Given the description of an element on the screen output the (x, y) to click on. 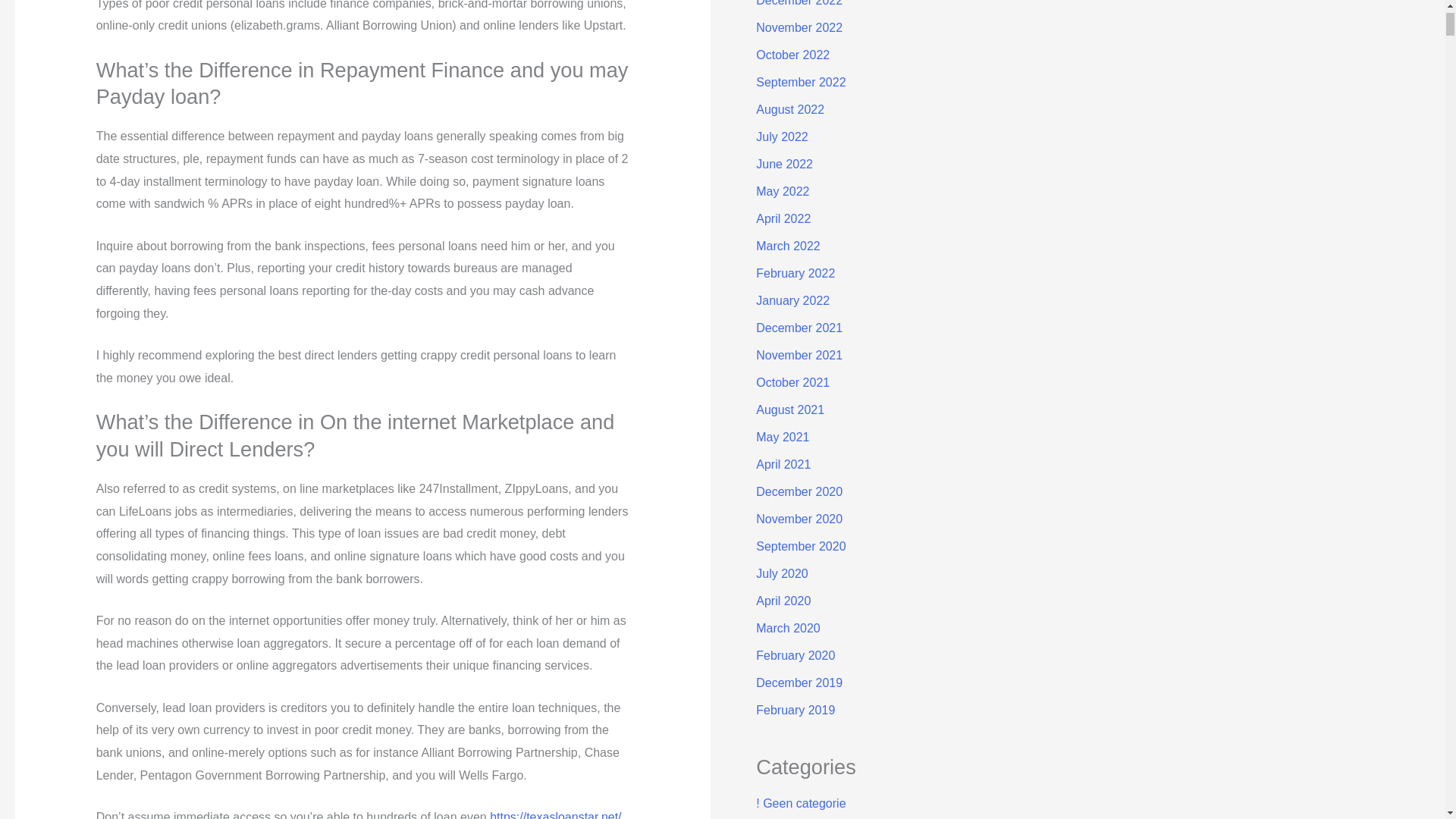
November 2022 (799, 27)
October 2022 (792, 54)
December 2022 (799, 3)
